Given the description of an element on the screen output the (x, y) to click on. 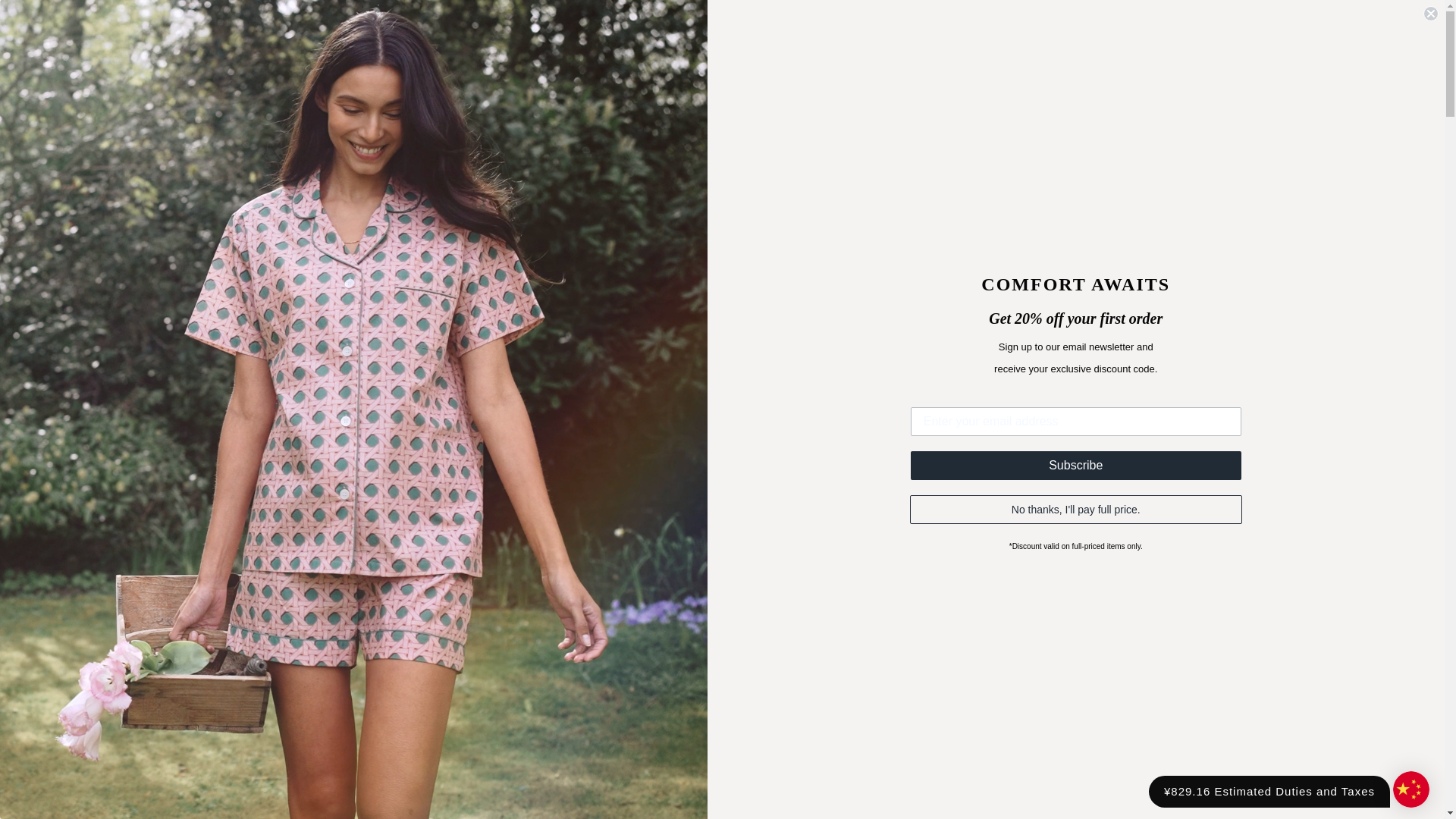
SALE (520, 112)
Pinterest (123, 15)
Youtube (79, 15)
1 (853, 466)
Instagram (101, 15)
Minus (809, 466)
Instagram (101, 15)
Plus (897, 466)
Search (60, 60)
Pinterest (123, 15)
Cart (1391, 60)
Facebook (58, 15)
Youtube (79, 15)
Privacy Policy (897, 791)
Facebook (58, 15)
